Given the description of an element on the screen output the (x, y) to click on. 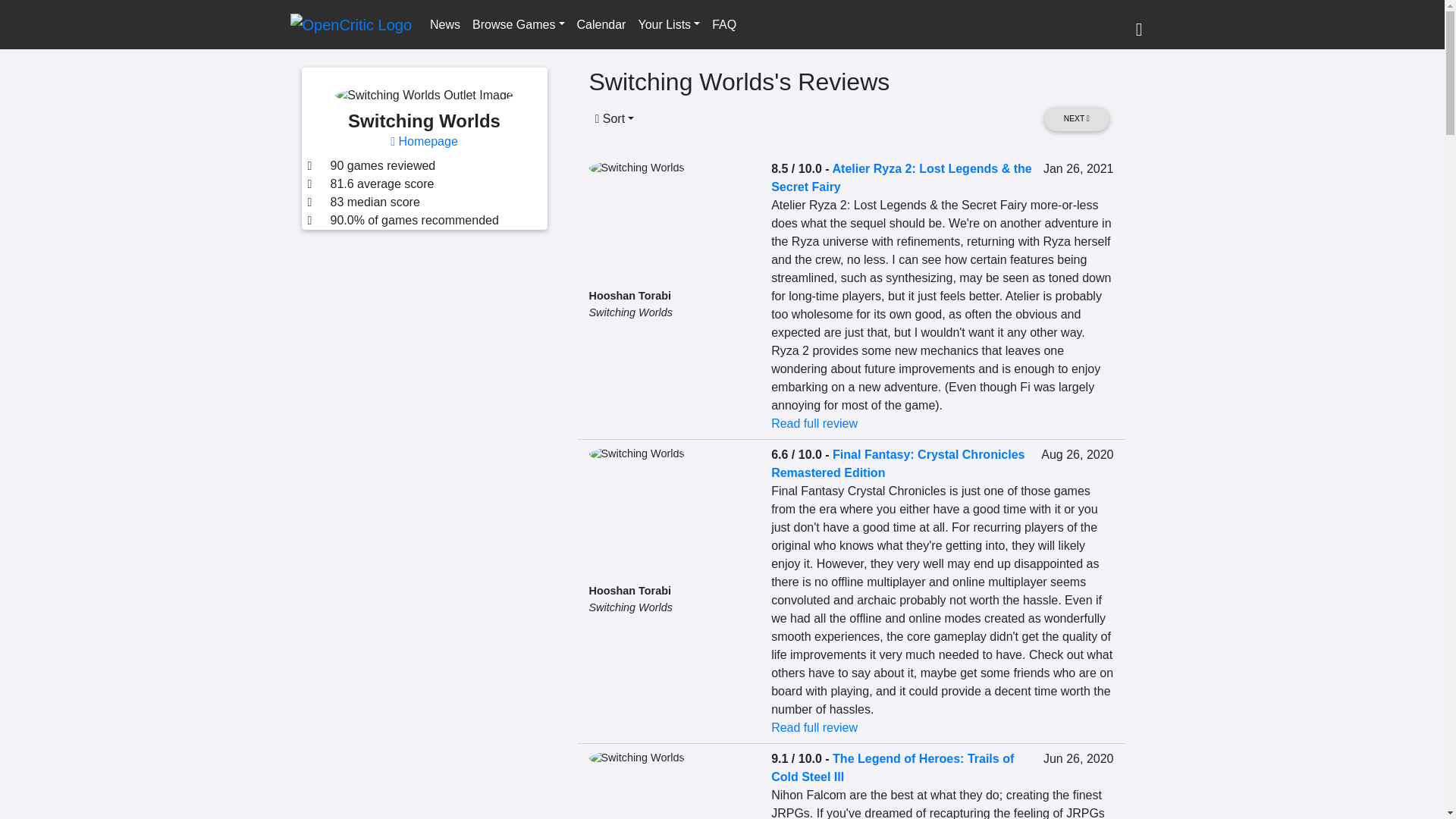
Read full review (814, 422)
NEXT (1075, 118)
Your Lists (668, 24)
News (444, 24)
Final Fantasy: Crystal Chronicles Remastered Edition (898, 463)
Hooshan Torabi (628, 295)
Browse Games (517, 24)
Hooshan Torabi (628, 590)
Read full review (814, 727)
Homepage (424, 141)
